Given the description of an element on the screen output the (x, y) to click on. 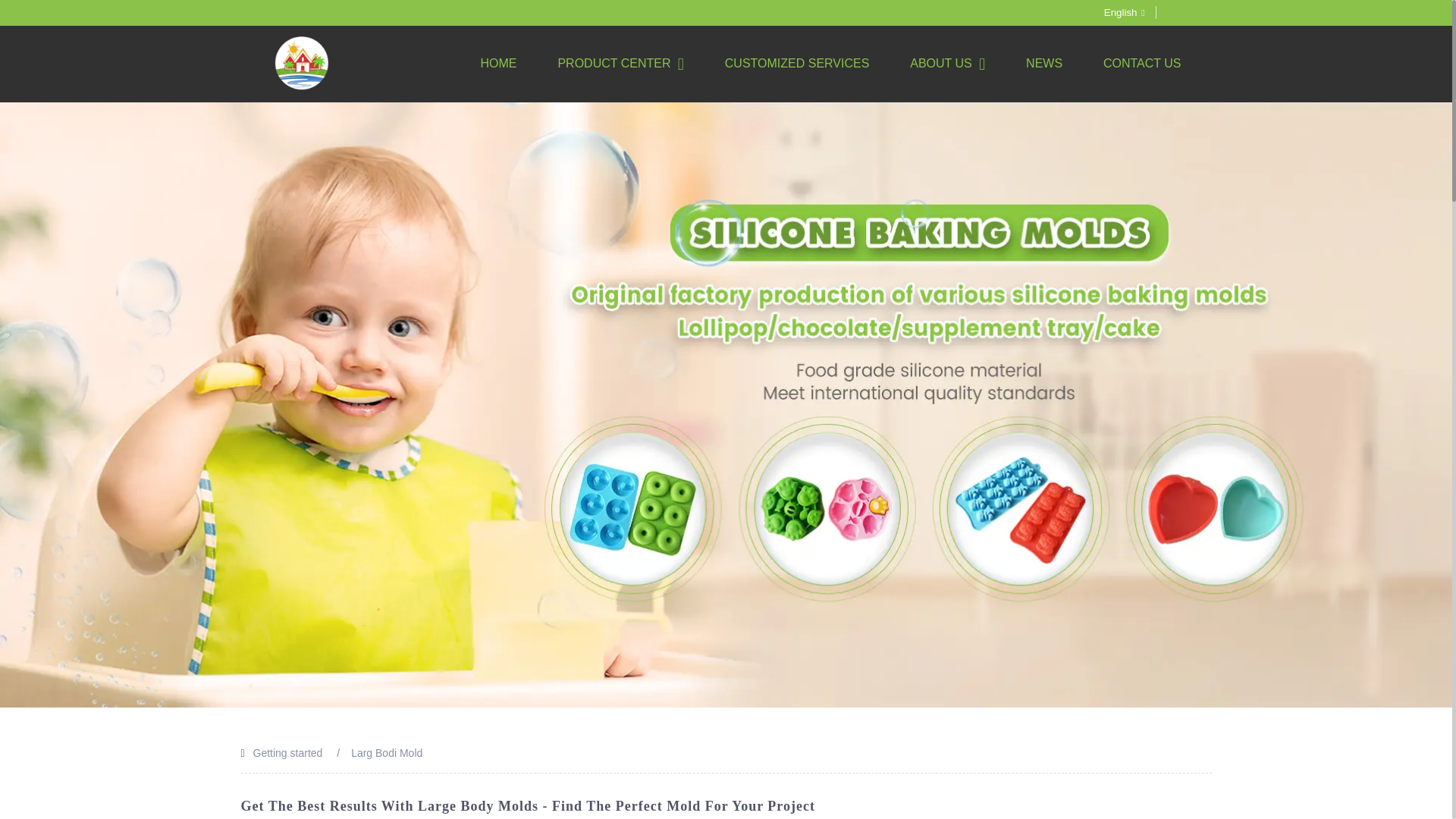
PRODUCT CENTER (619, 63)
English (1111, 12)
CUSTOMIZED SERVICES (797, 63)
Getting started (288, 752)
CONTACT US (1141, 63)
ABOUT US (947, 63)
Larg Bodi Mold (386, 752)
